Given the description of an element on the screen output the (x, y) to click on. 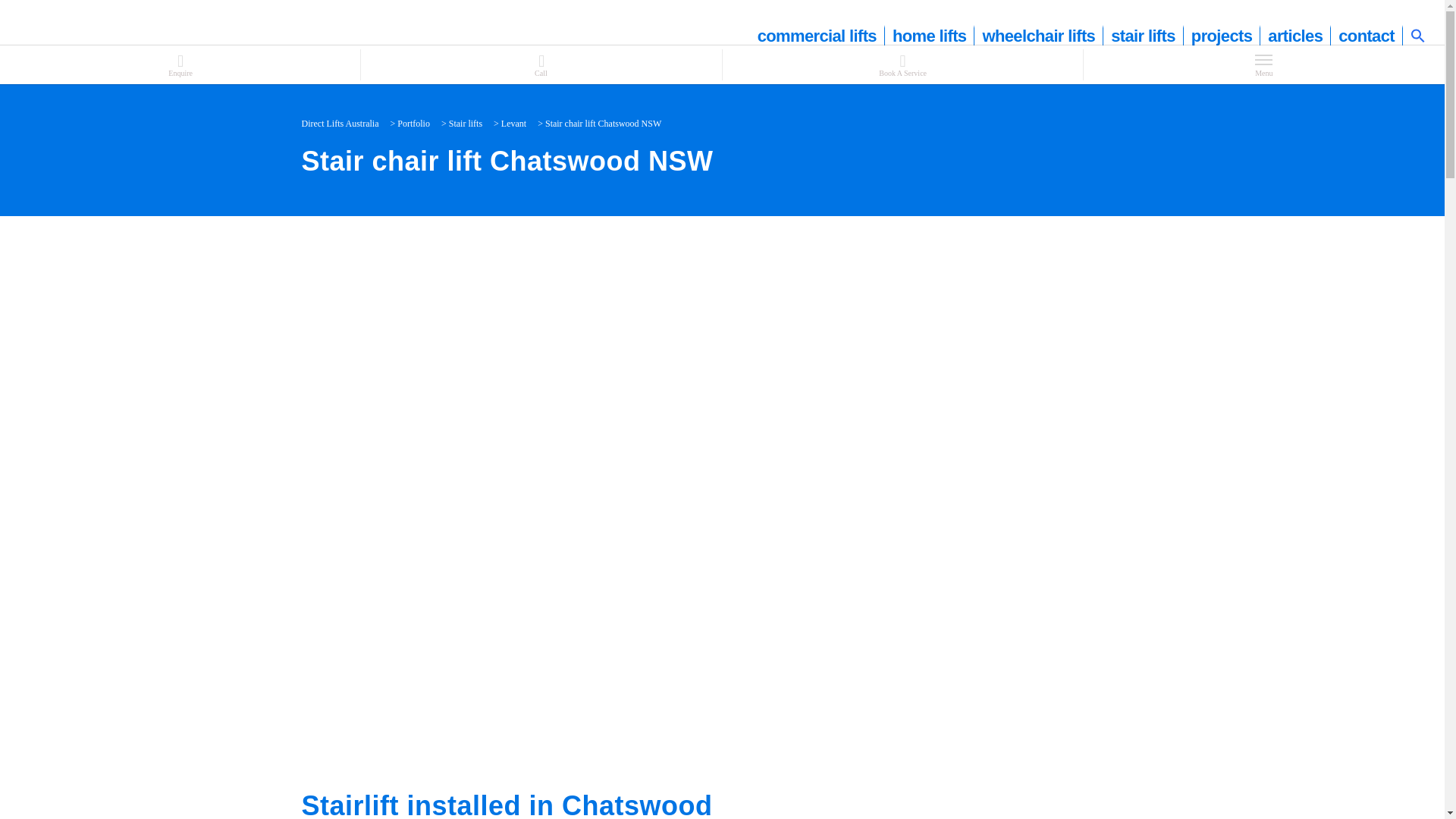
Go to the Stair lifts Categories archives. (464, 122)
Home (339, 122)
home lifts (930, 36)
wheelchair lifts (1038, 36)
Go to Stair chair lift Chatswood NSW. (602, 122)
Go to Portfolio. (413, 122)
stair lifts (1143, 36)
articles (1295, 36)
Go to the Levant Categories archives. (512, 122)
contact (1366, 36)
